Given the description of an element on the screen output the (x, y) to click on. 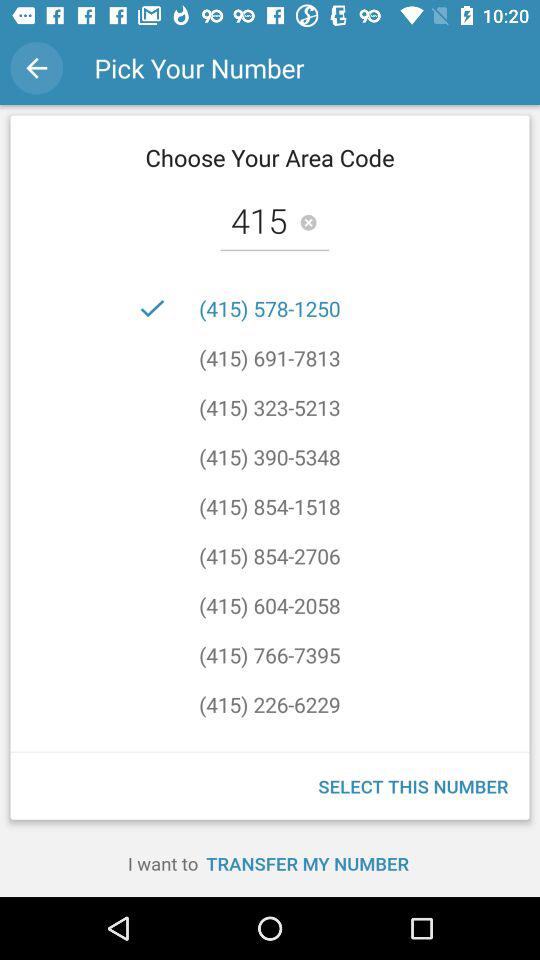
turn on icon above choose your area icon (36, 68)
